Given the description of an element on the screen output the (x, y) to click on. 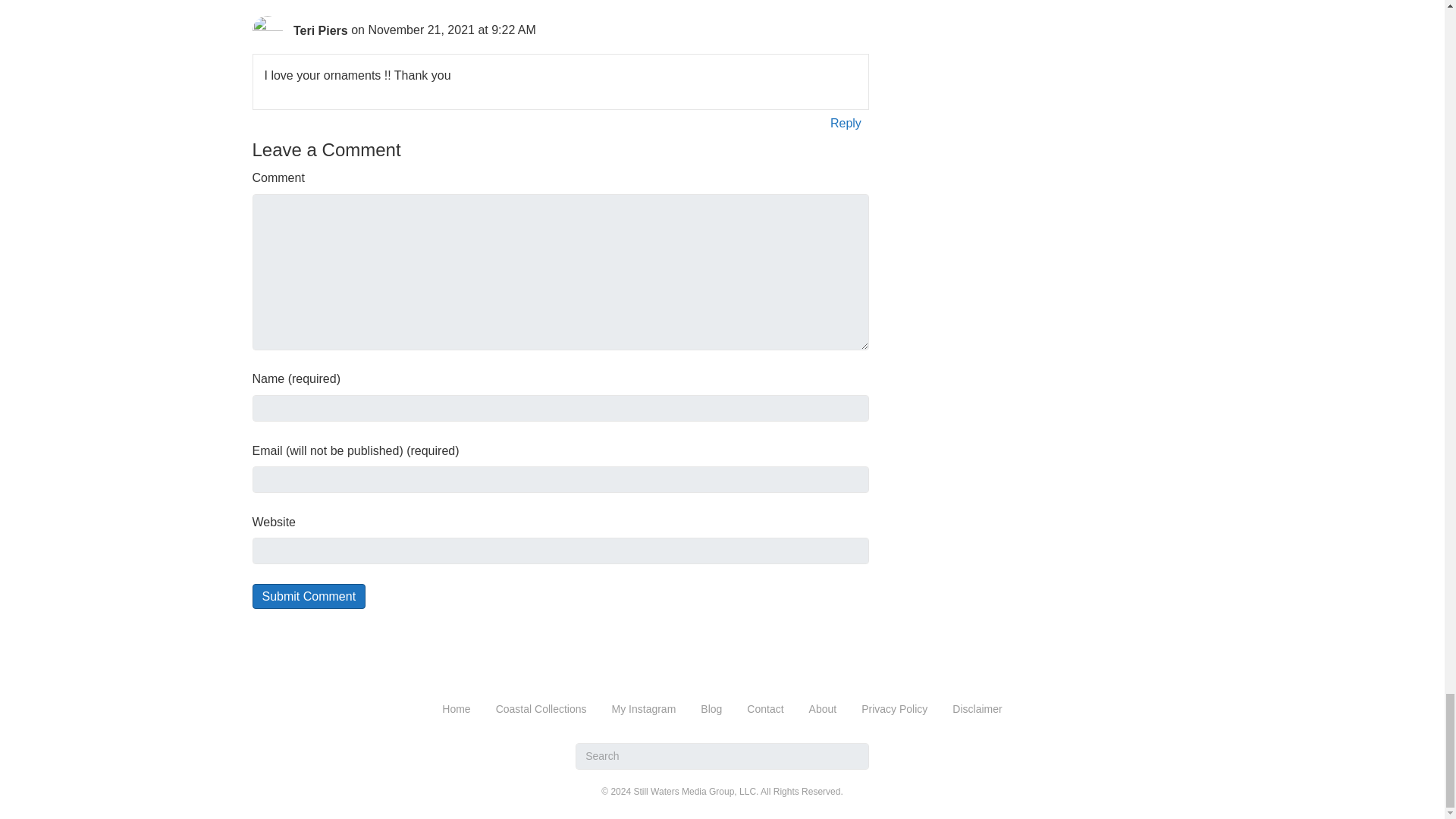
Submit Comment (308, 596)
